Given the description of an element on the screen output the (x, y) to click on. 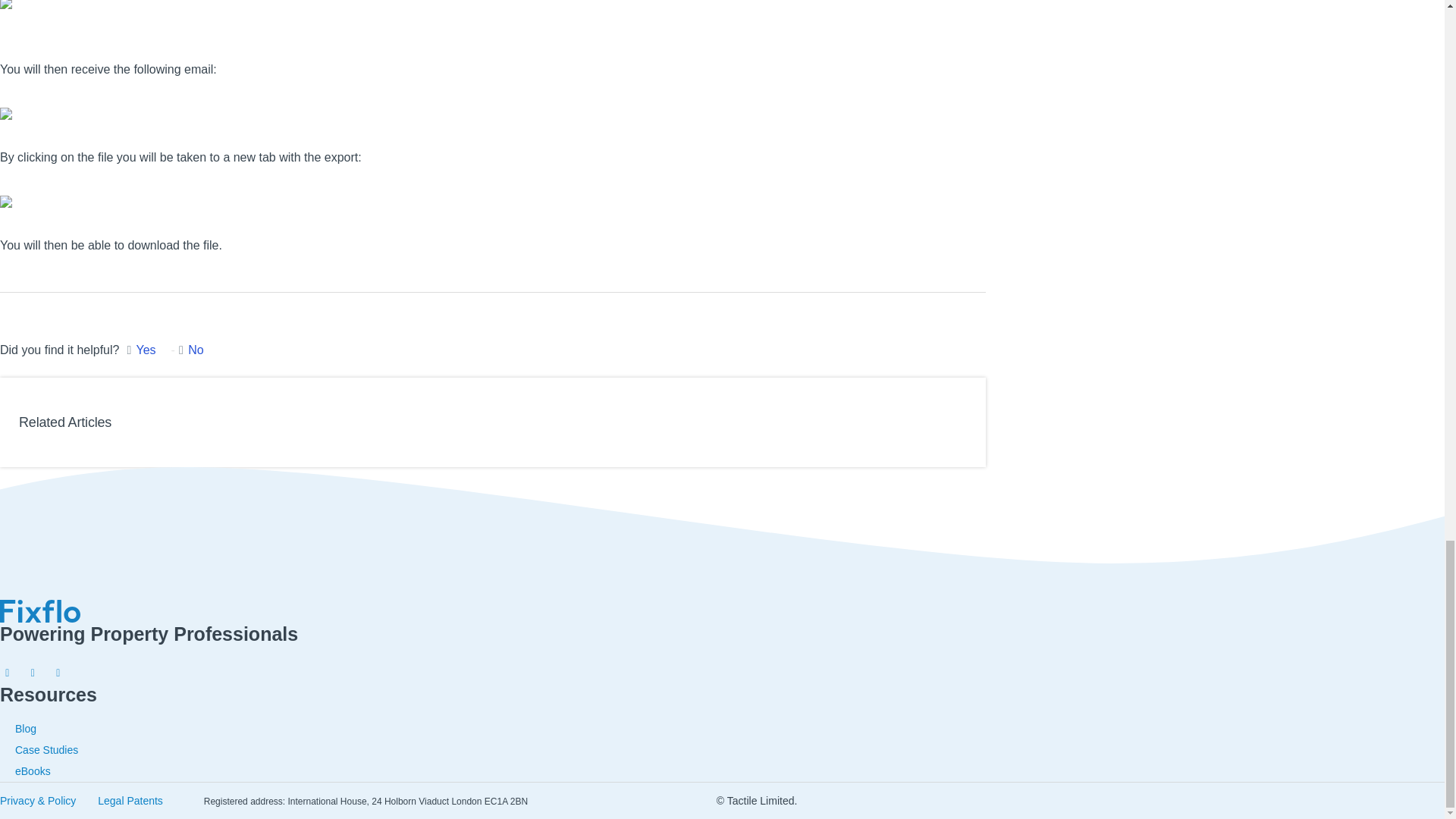
Twitter (57, 667)
Legal Patents (130, 800)
Facebook (32, 667)
Case Studies (46, 749)
Facebook (7, 667)
eBooks (32, 770)
Blog (25, 728)
